Given the description of an element on the screen output the (x, y) to click on. 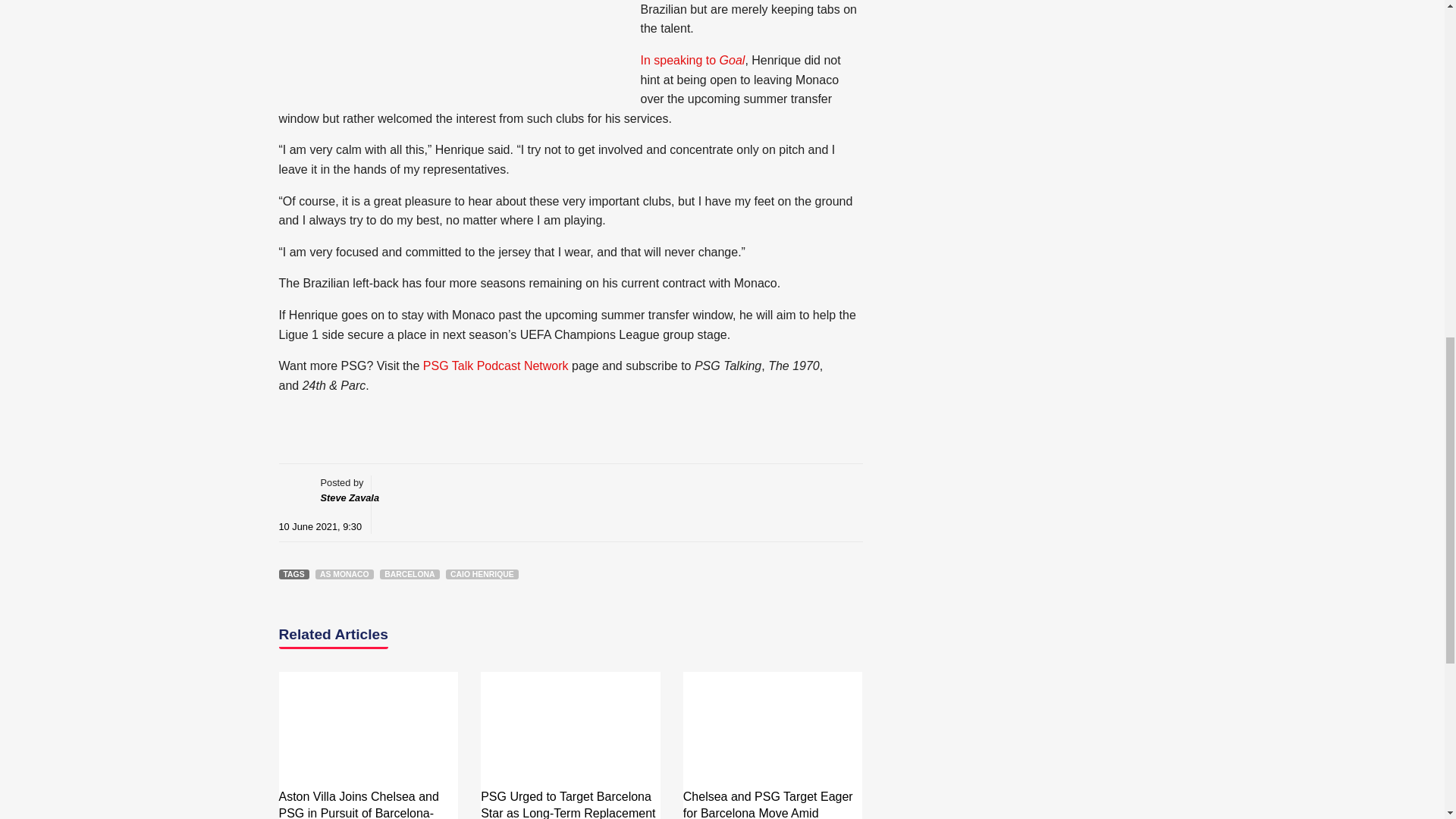
PSG Talk Podcast Network (496, 365)
In speaking to Goal (692, 60)
